Given the description of an element on the screen output the (x, y) to click on. 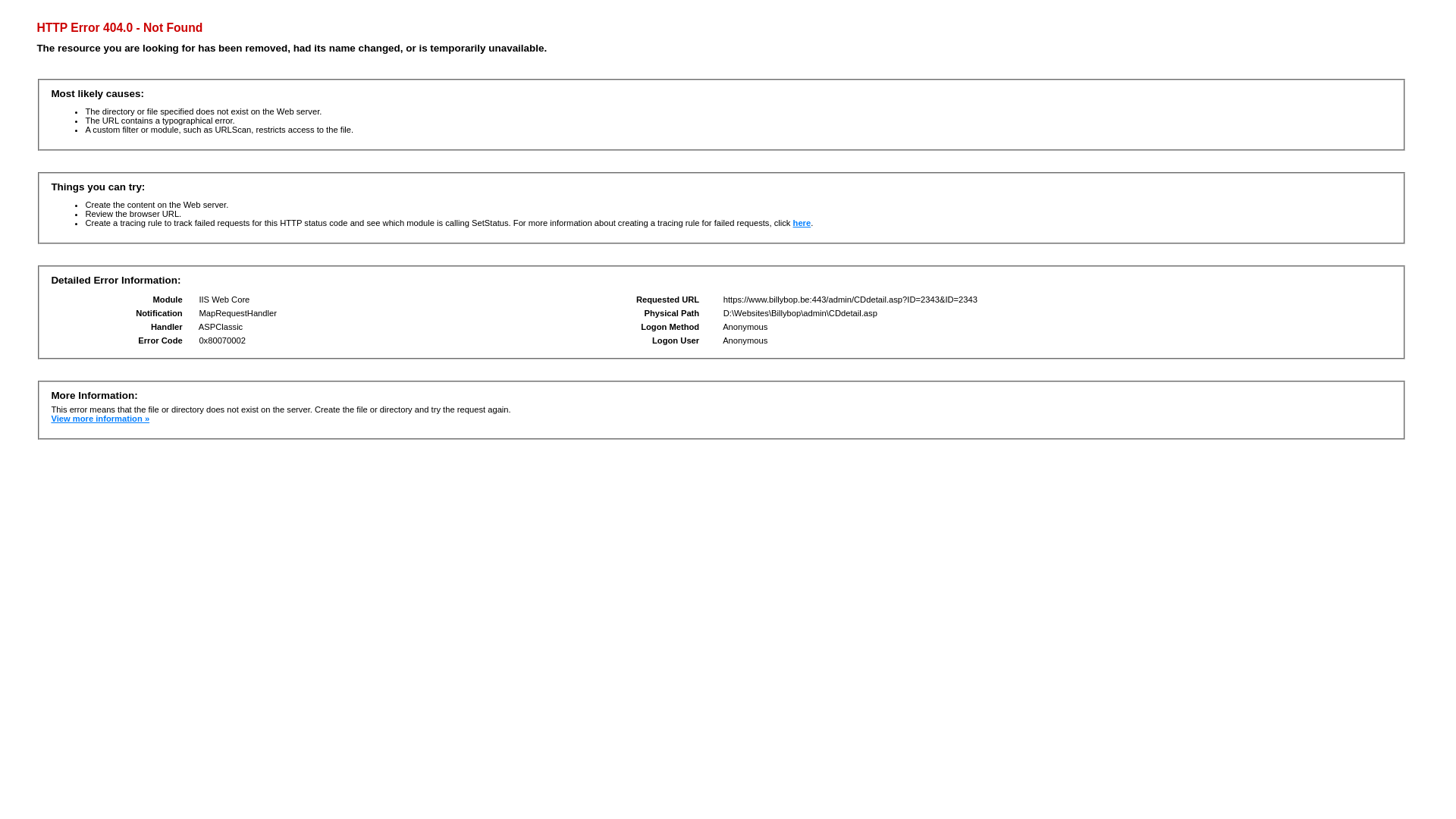
here Element type: text (802, 222)
